Given the description of an element on the screen output the (x, y) to click on. 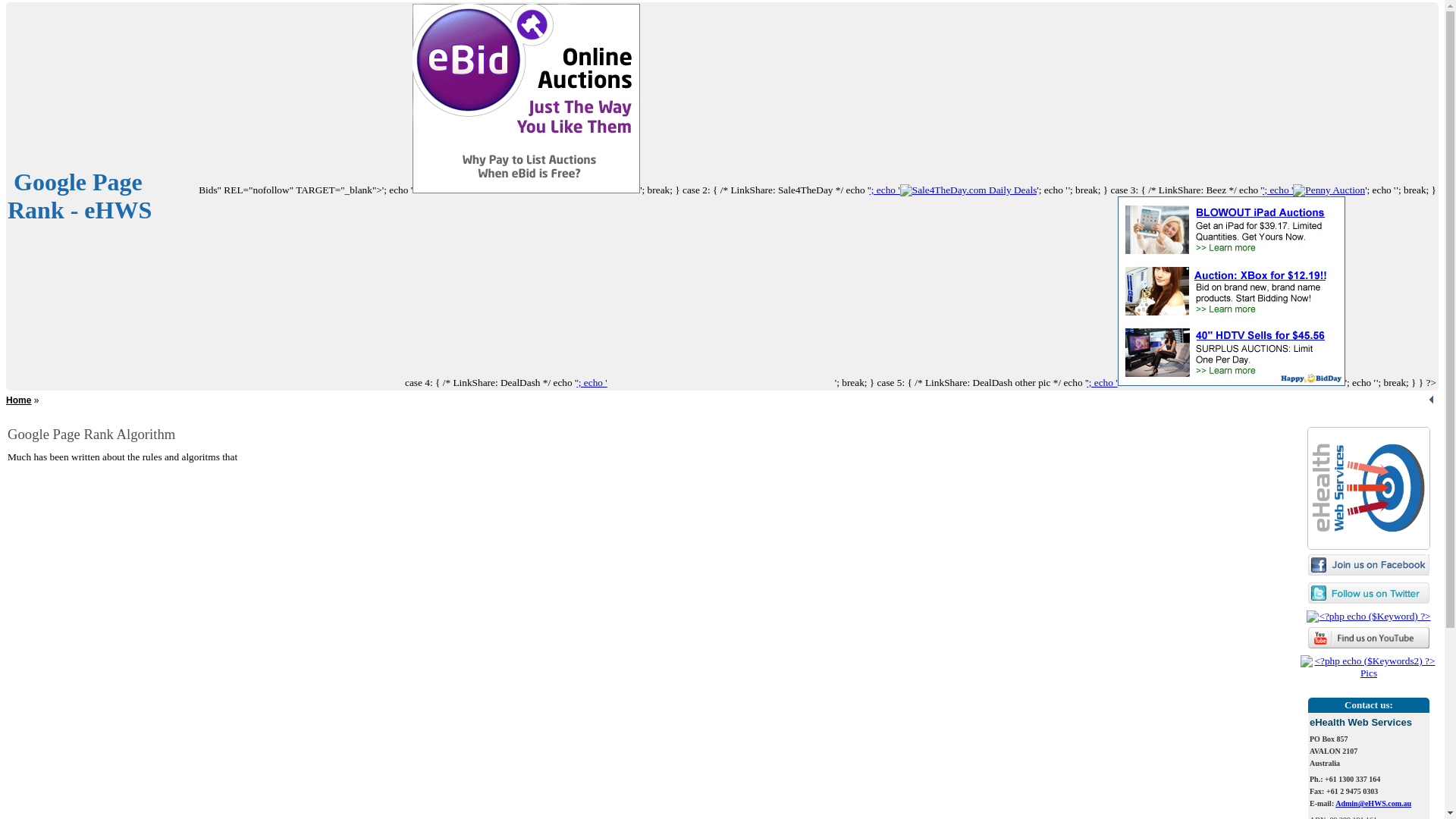
Admin@eHWS.com.au Element type: text (1373, 803)
<?php echo ($Keywords1) ?> Pins Element type: hover (1368, 672)
<?php echo ($Keywords2) ?> Auctions Element type: hover (1231, 290)
<?php echo ($Keywords1) ?> Video Element type: hover (1368, 644)
<?php echo ($Keywords2) ?> Auctions Element type: hover (1328, 190)
'; echo ' Element type: text (1215, 382)
eHealth Web Services & Internet Presences Information Element type: hover (1368, 487)
<?php echo ($Keywords1) ?> Tweeting Element type: hover (1368, 599)
<?php echo ($Keywords1) ?> Element type: hover (1368, 571)
<?php echo ($Keywords2) ?> Auctions Element type: hover (526, 98)
'; echo ' Element type: text (705, 382)
<?php echo ($Keywords2) ?> Auctions Element type: hover (720, 290)
Home Element type: text (18, 400)
'; echo ' Element type: text (1313, 189)
<?php echo ($Keywords1) ?> Element type: hover (1368, 615)
Watch <?php echo ($SiteName) ?> Videos on YouTube Element type: hover (1368, 637)
Web Services & Internet Presences Element type: hover (1368, 483)
Get <?php echo ($SiteName) ?> News on Twitter Element type: hover (1368, 592)
<?php echo ($Keywords2) ?> Auctions Element type: hover (1375, 385)
Get <?php echo ($SiteName) ?> Updates on Facebook Element type: hover (1368, 564)
See <?php echo ($SiteName) ?> Pics on Pinterest Element type: hover (1368, 667)
<?php echo ($Keywords2) ?> Auctions Element type: hover (1396, 192)
<?php echo ($SiteName) ?> Twitter Statistics Element type: hover (1368, 616)
'; echo ' Element type: text (952, 189)
